Given the description of an element on the screen output the (x, y) to click on. 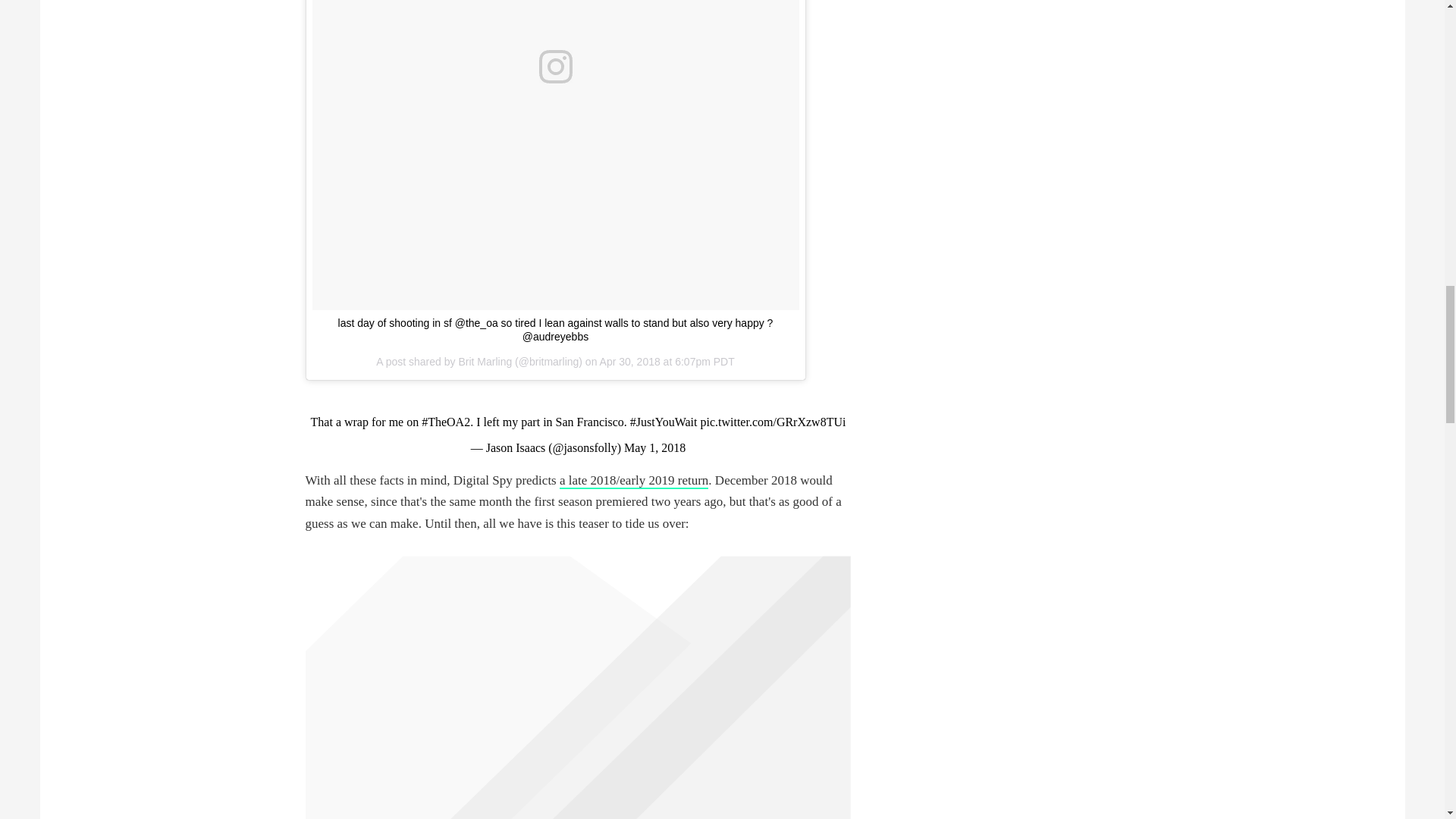
May 1, 2018 (654, 447)
Brit Marling (485, 361)
